Given the description of an element on the screen output the (x, y) to click on. 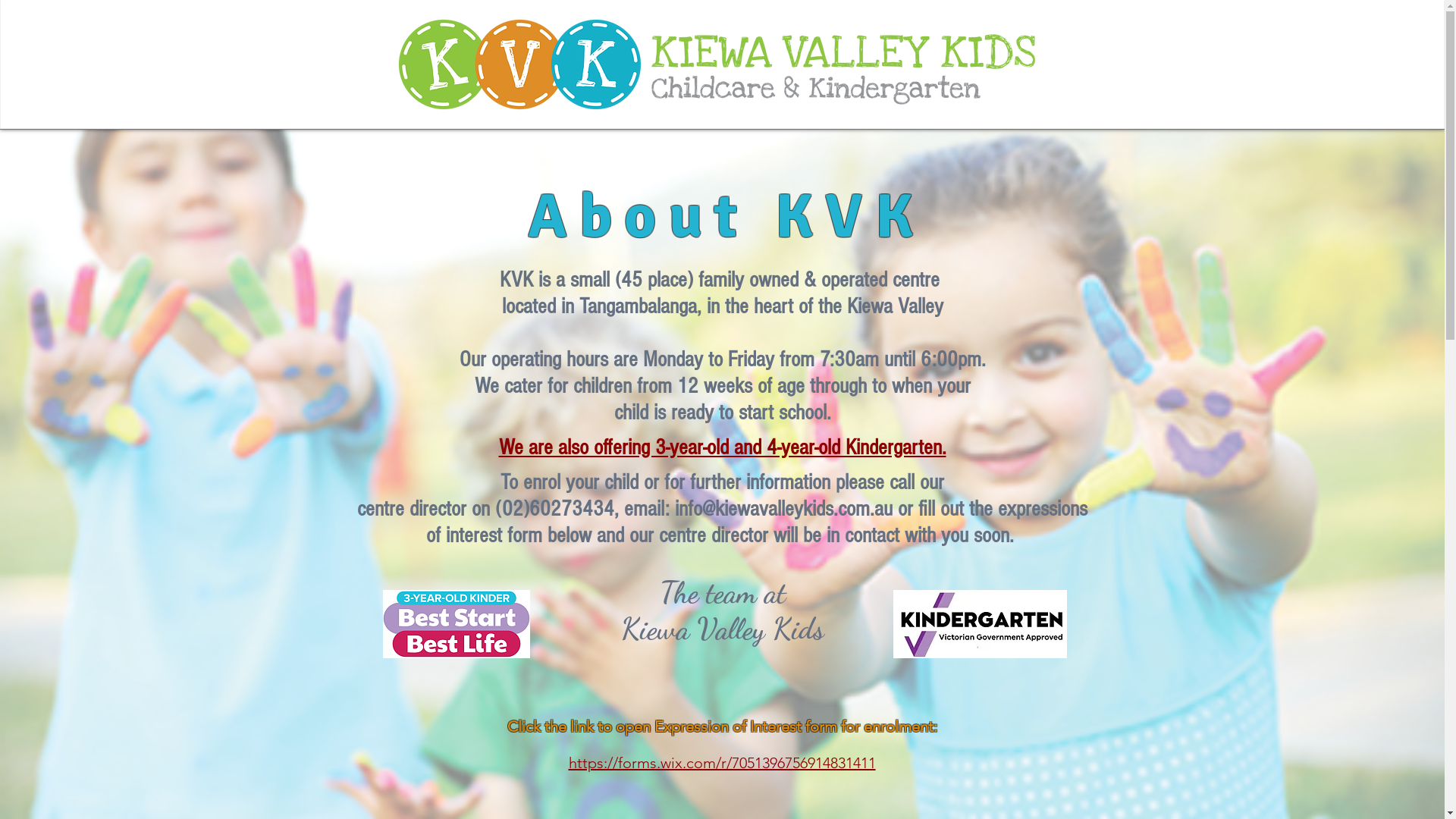
info@kiewavalleykids.com.au Element type: text (783, 508)
3 Year Old Kindergarten.png Element type: hover (455, 623)
Kinder_tick_small.jpg Element type: hover (979, 623)
https://forms.wix.com/r/7051396756914831411 Element type: text (721, 762)
